Given the description of an element on the screen output the (x, y) to click on. 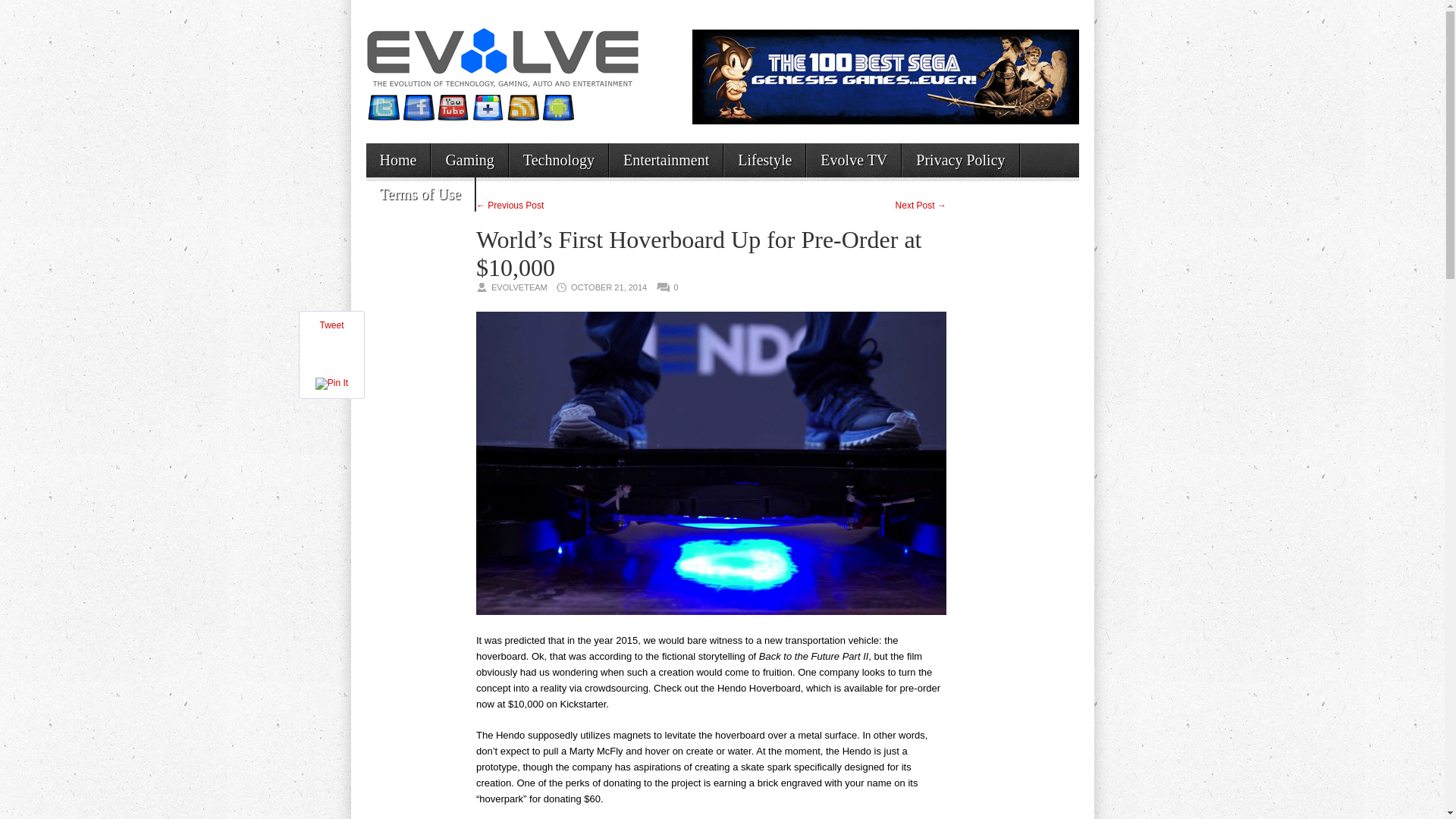
Gaming (468, 159)
Subscribe to our Featured You Tube Channel (452, 107)
Entertainment (666, 159)
Subscribe to our Feed (522, 107)
Lifestyle (764, 159)
Technology (558, 159)
Download this sweet app (557, 107)
Follow Us! (382, 107)
Home (397, 159)
Like Us! (417, 107)
